Given the description of an element on the screen output the (x, y) to click on. 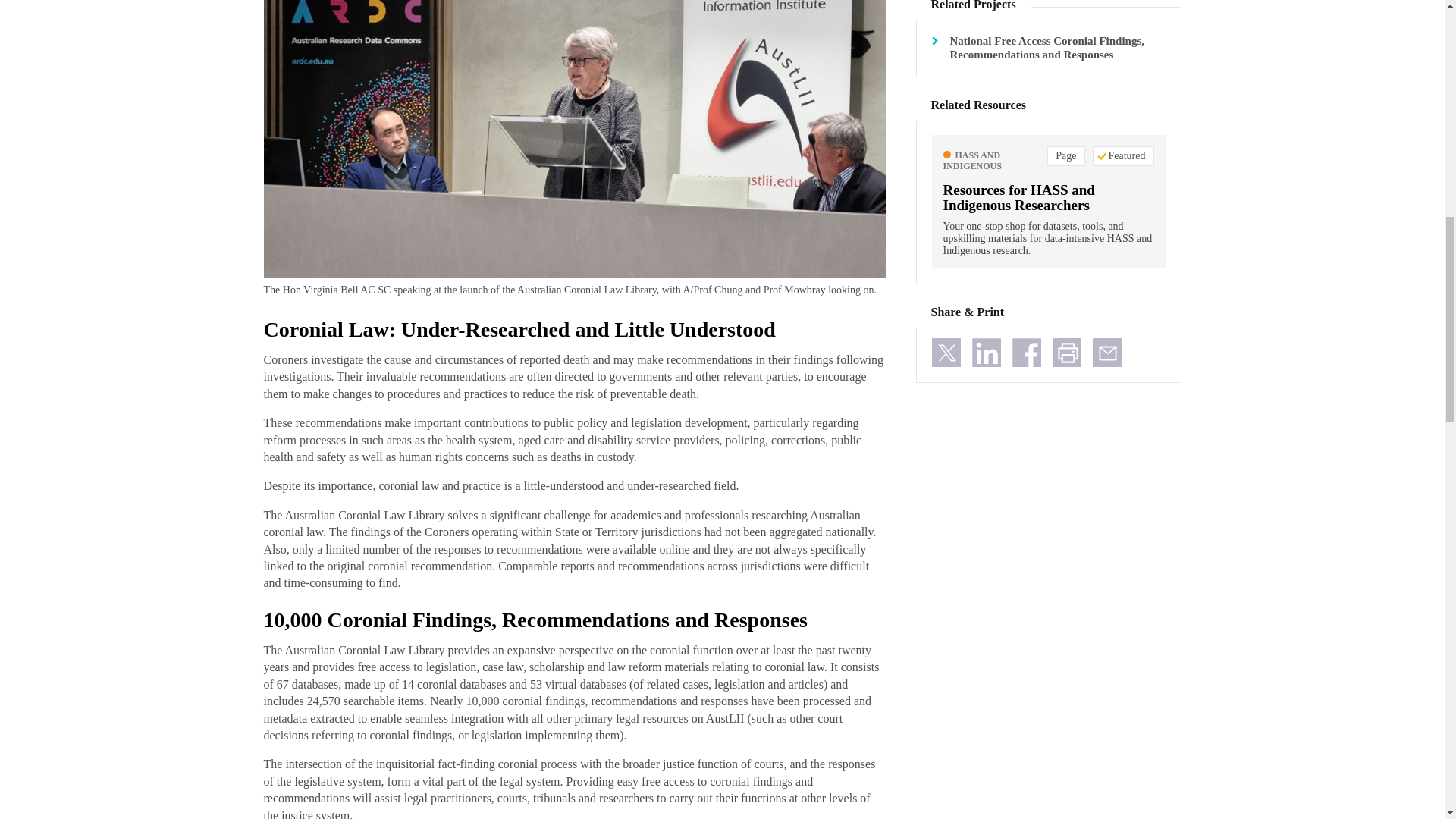
Print this Page (1066, 352)
Share via Email (1106, 352)
Share on Twitter (945, 352)
Share on Facebook (1026, 352)
Share on LinkedIn (986, 352)
